Given the description of an element on the screen output the (x, y) to click on. 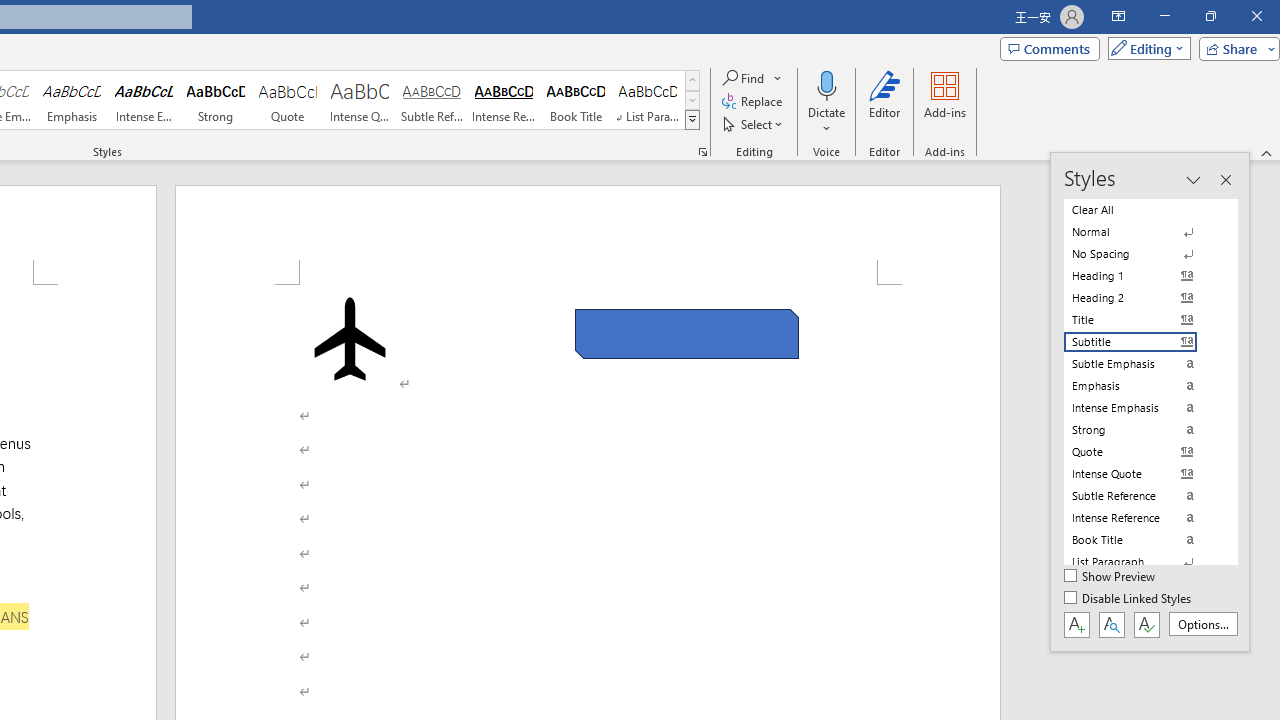
Subtle Reference (431, 100)
Subtle Emphasis (1142, 363)
Intense Quote (359, 100)
Rectangle: Diagonal Corners Snipped 2 (686, 333)
Strong (216, 100)
